Given the description of an element on the screen output the (x, y) to click on. 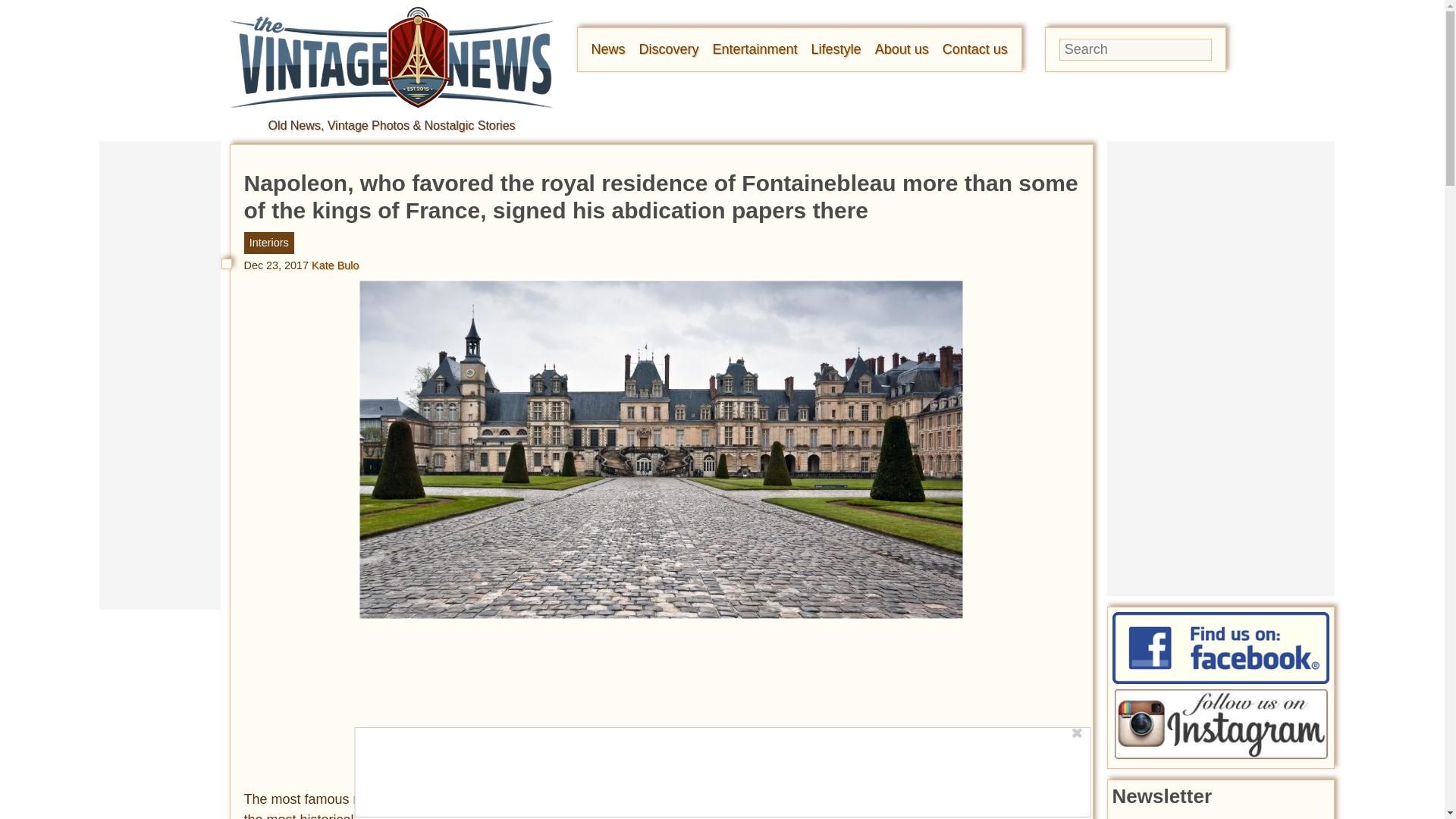
About us (901, 48)
Entertainment (755, 48)
Lifestyle (835, 48)
Discovery (668, 48)
News (608, 48)
Contact us (974, 48)
